Given the description of an element on the screen output the (x, y) to click on. 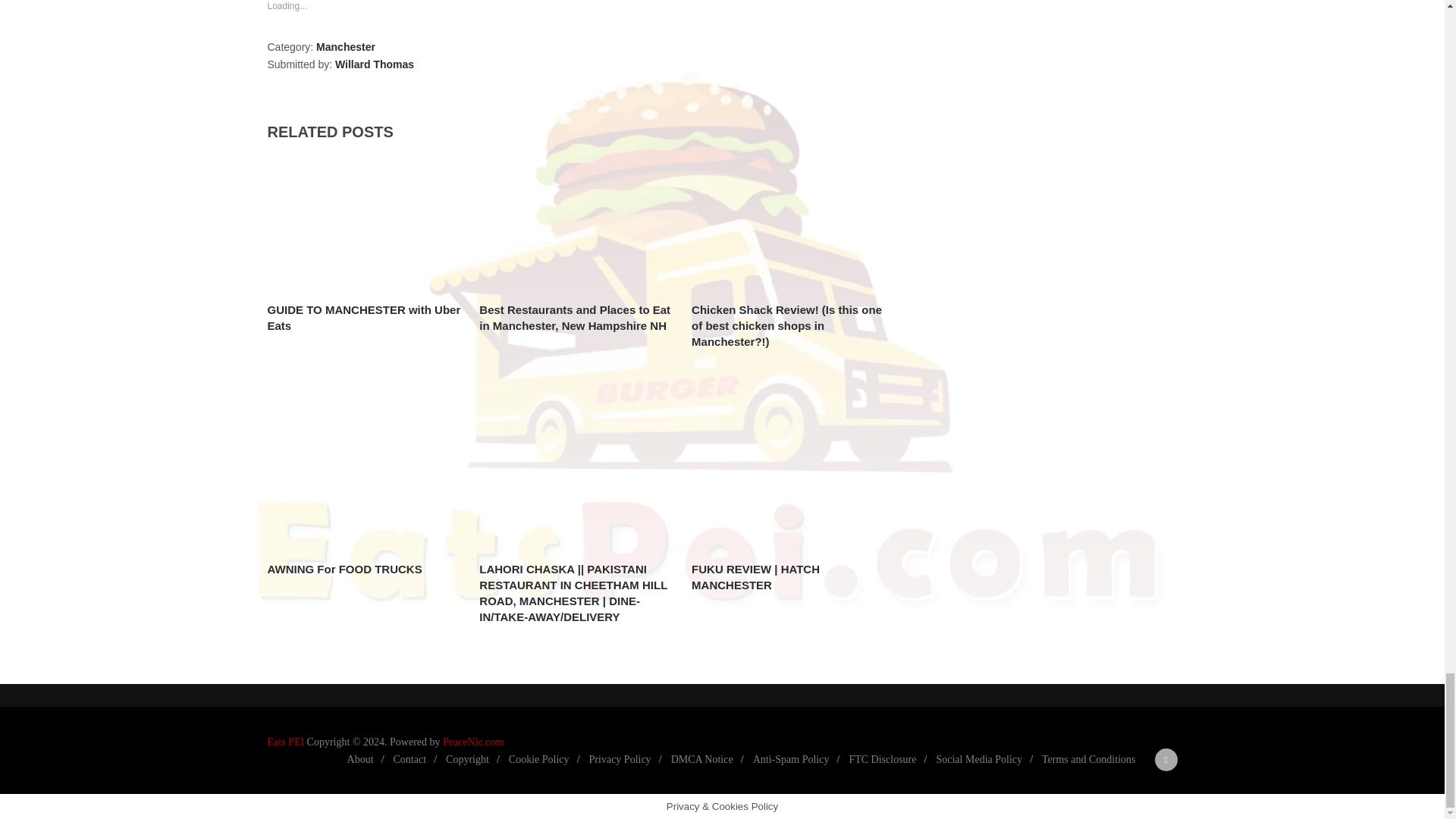
GUIDE TO MANCHESTER with Uber Eats (363, 317)
GUIDE TO MANCHESTER with Uber Eats (363, 224)
